Given the description of an element on the screen output the (x, y) to click on. 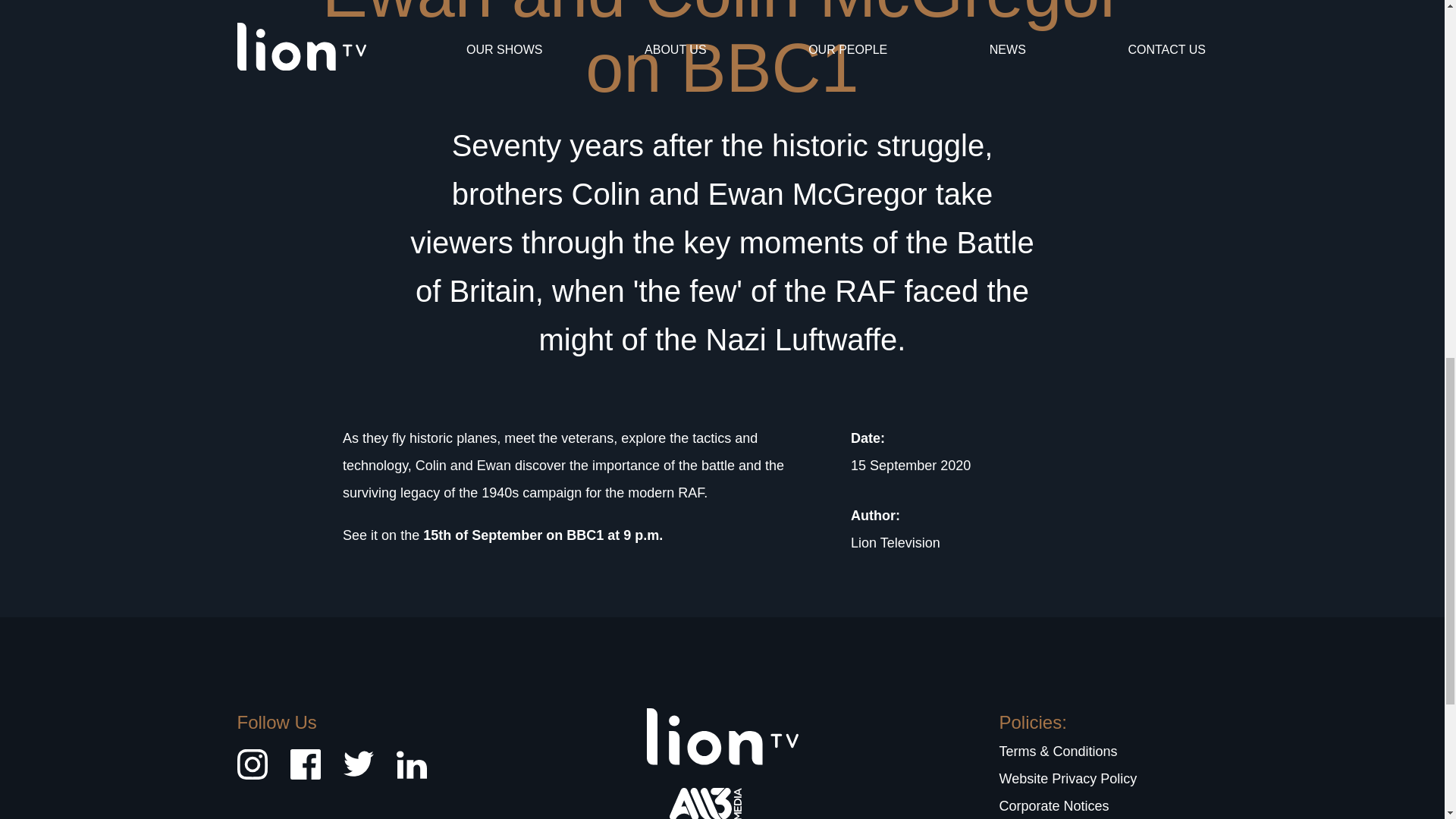
Follow us on Facebook (304, 777)
Corporate Notices (1053, 806)
Follow us on Twitter (357, 777)
Website Privacy Policy (1067, 778)
Follow us on Instagram (250, 777)
Follow us on LinkedIn (411, 777)
